Given the description of an element on the screen output the (x, y) to click on. 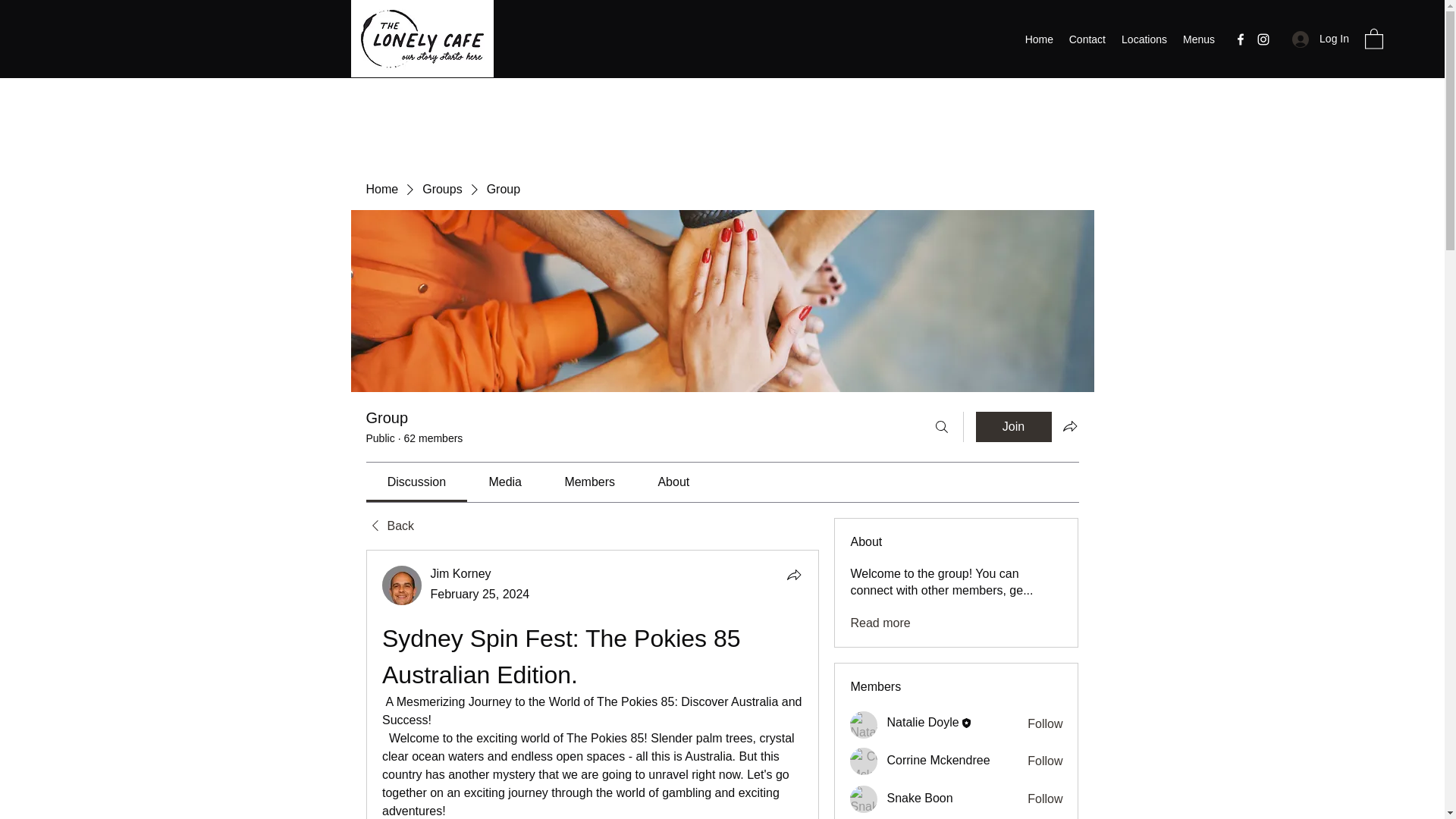
Home (381, 189)
Jim Korney (461, 573)
Locations (1143, 38)
Snake Boon (863, 799)
Back (389, 525)
Jim Korney (401, 585)
Contact (1087, 38)
Natalie Doyle (922, 722)
Natalie Doyle (863, 724)
Corrine Mckendree (938, 759)
